Given the description of an element on the screen output the (x, y) to click on. 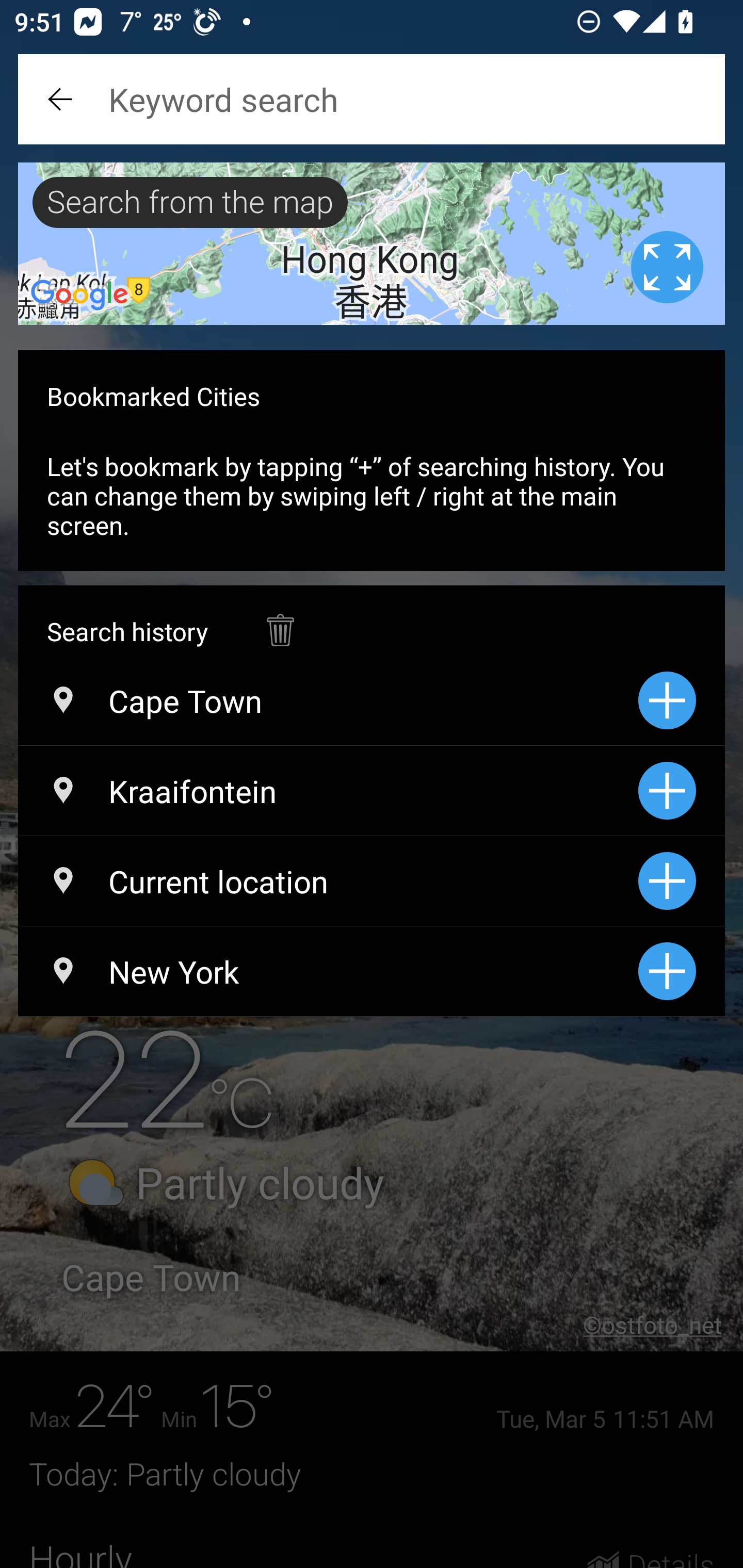
Keyword search (371, 99)
 (61, 99)
 (280, 619)
 Cape Town (327, 700)
 Kraaifontein (327, 790)
 Current location (327, 880)
 New York (327, 971)
